Given the description of an element on the screen output the (x, y) to click on. 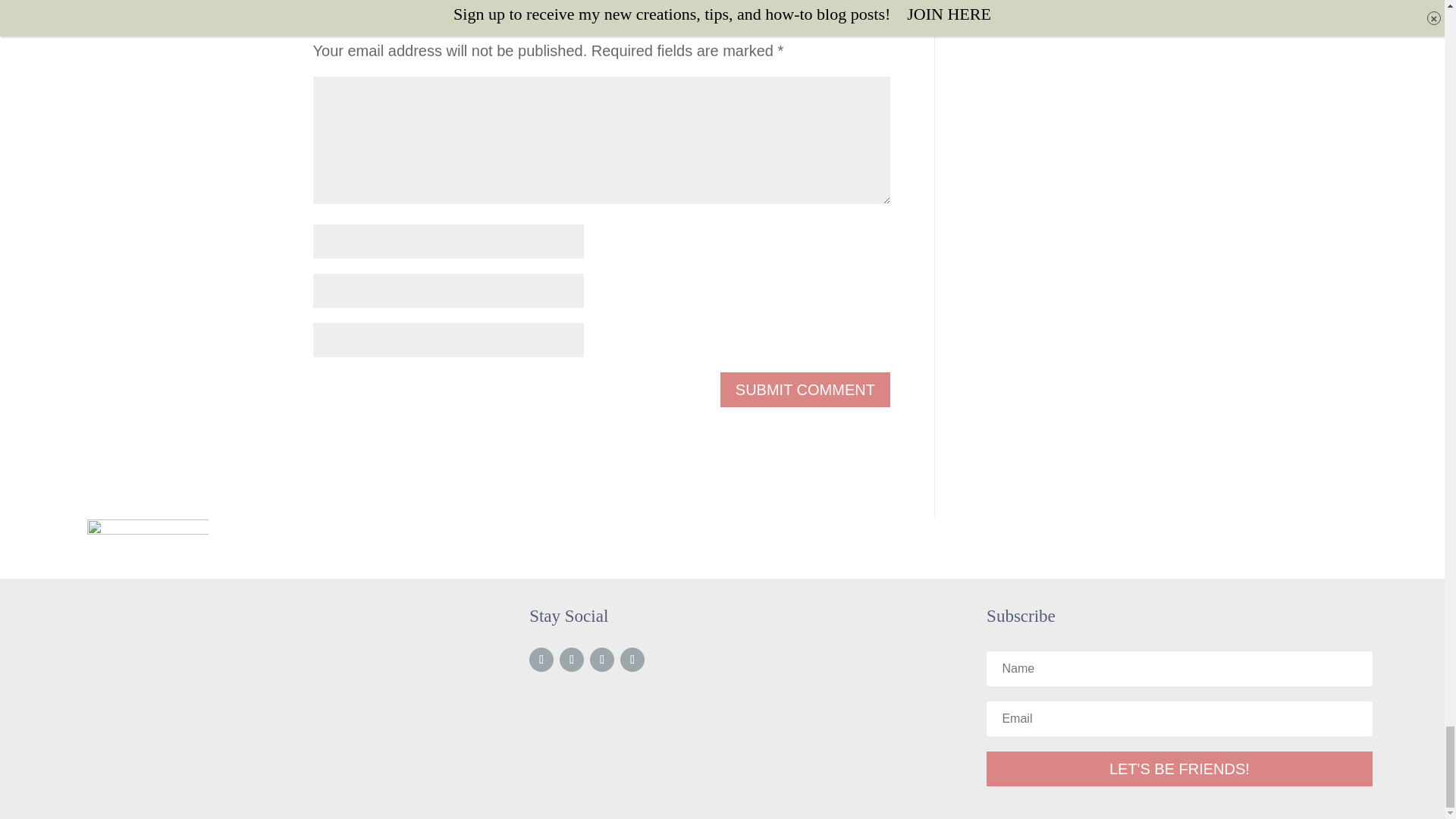
Submit Comment (804, 389)
Submit Comment (804, 389)
